Given the description of an element on the screen output the (x, y) to click on. 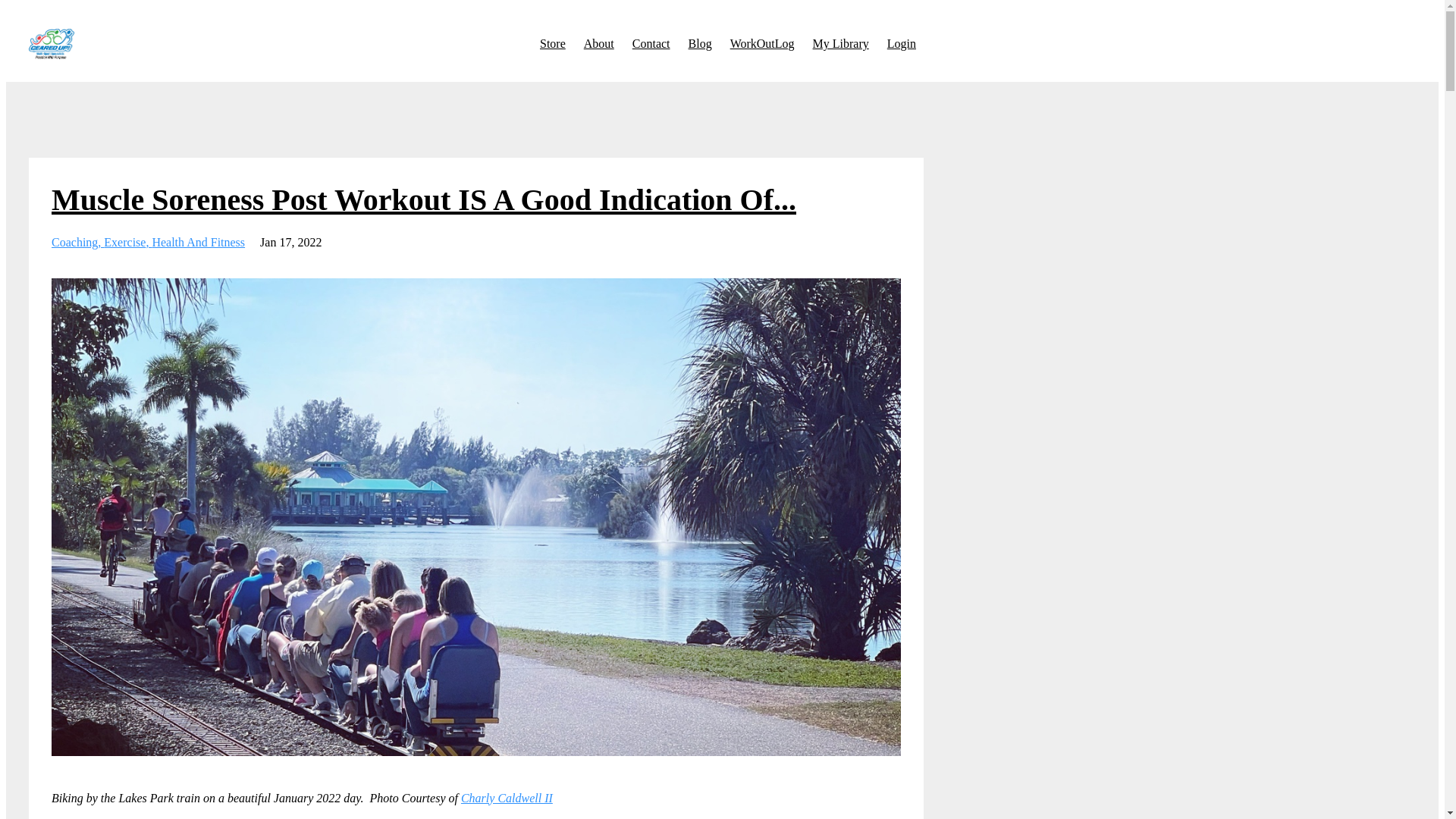
Exercise (127, 241)
Health And Fitness (197, 241)
WorkOutLog (762, 43)
Charly Caldwell II (507, 797)
About (598, 43)
Muscle Soreness Post Workout IS A Good Indication Of... (423, 199)
Login (900, 43)
My Library (840, 43)
Coaching (76, 241)
Contact (650, 43)
